Given the description of an element on the screen output the (x, y) to click on. 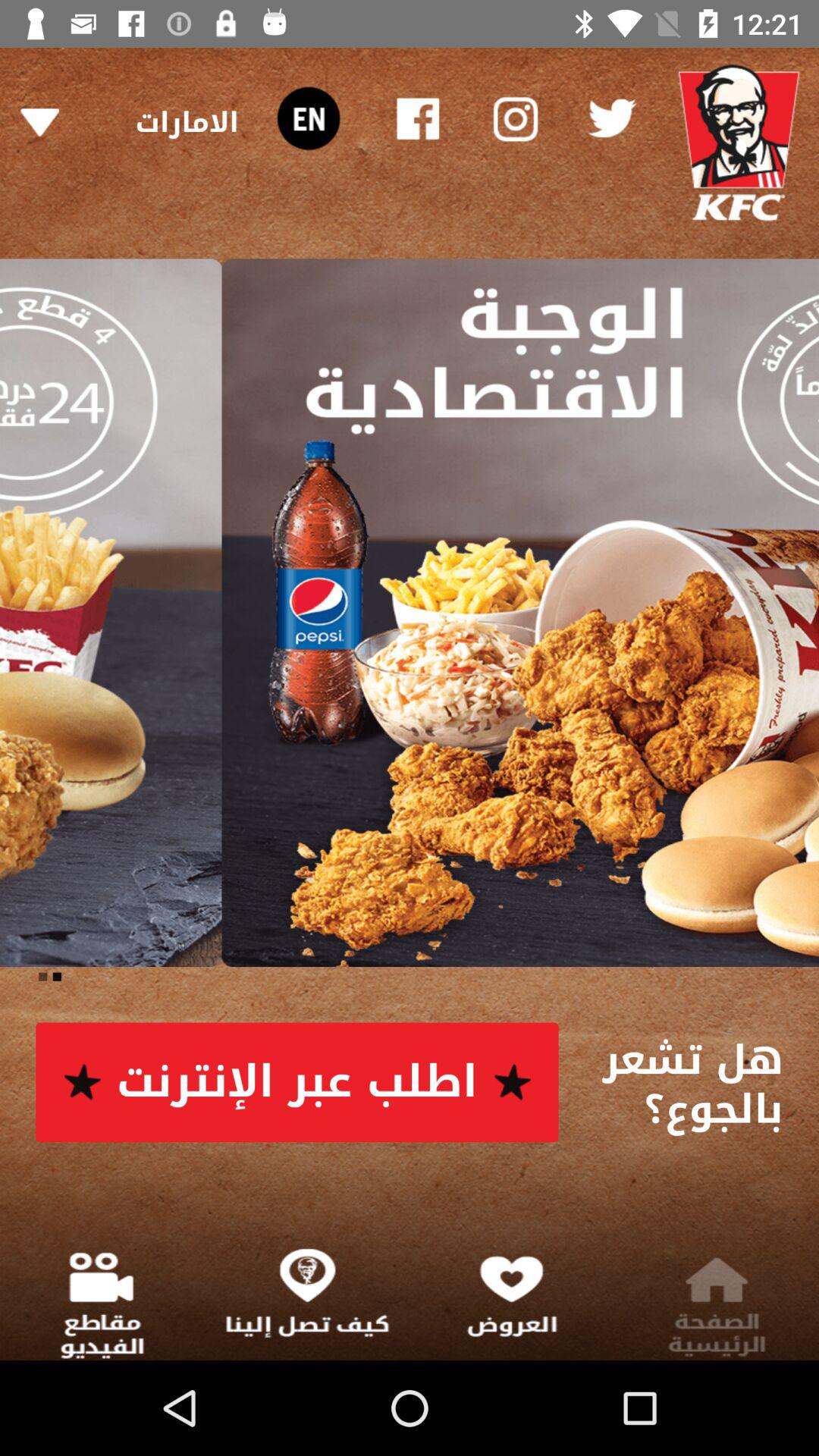
select icon at the center (409, 612)
